Given the description of an element on the screen output the (x, y) to click on. 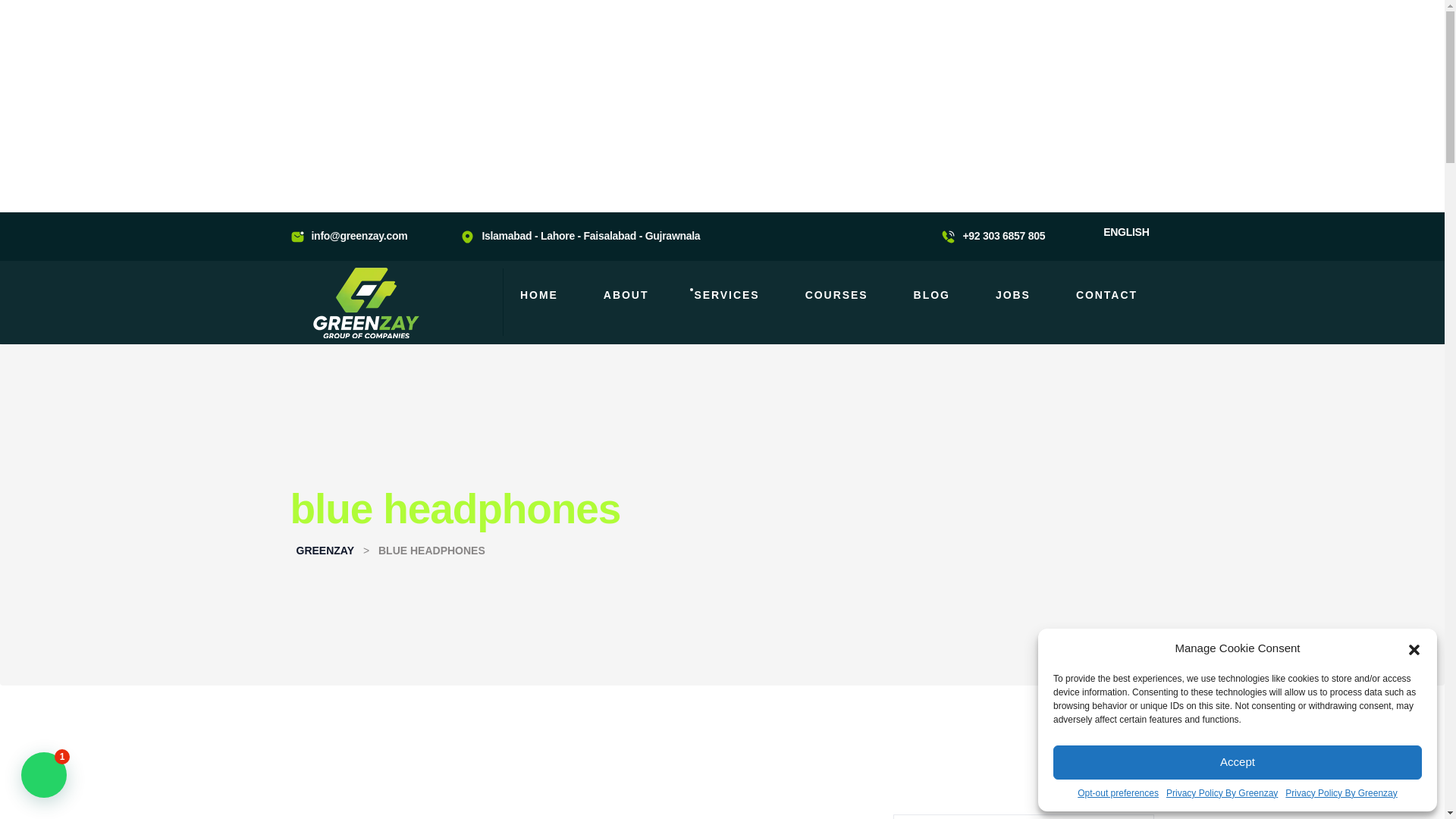
Go to Greenzay. (324, 550)
Privacy Policy By Greenzay (1340, 793)
COURSES (836, 294)
Privacy Policy By Greenzay (1222, 793)
CONTACT (1106, 294)
ENGLISH (1125, 232)
Accept (1237, 762)
SERVICES (726, 294)
Opt-out preferences (1117, 793)
